Given the description of an element on the screen output the (x, y) to click on. 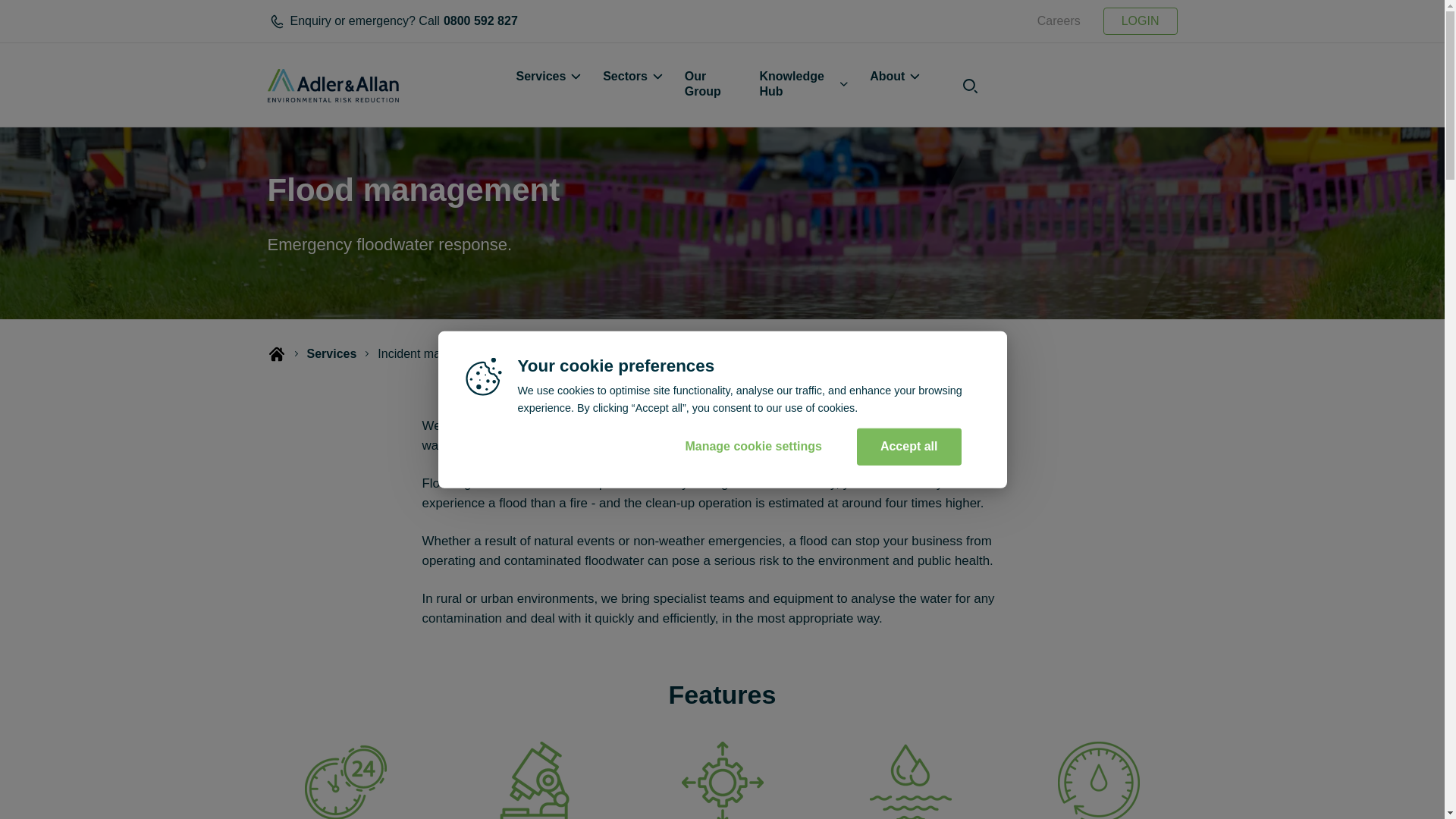
LOGIN (1140, 21)
Careers (1058, 21)
Manage cookie settings (753, 446)
Services (546, 78)
Accept all (488, 20)
SEARCH (908, 446)
Services (917, 97)
Emergency response (330, 353)
Floodwater (572, 353)
Incident management (680, 353)
